Given the description of an element on the screen output the (x, y) to click on. 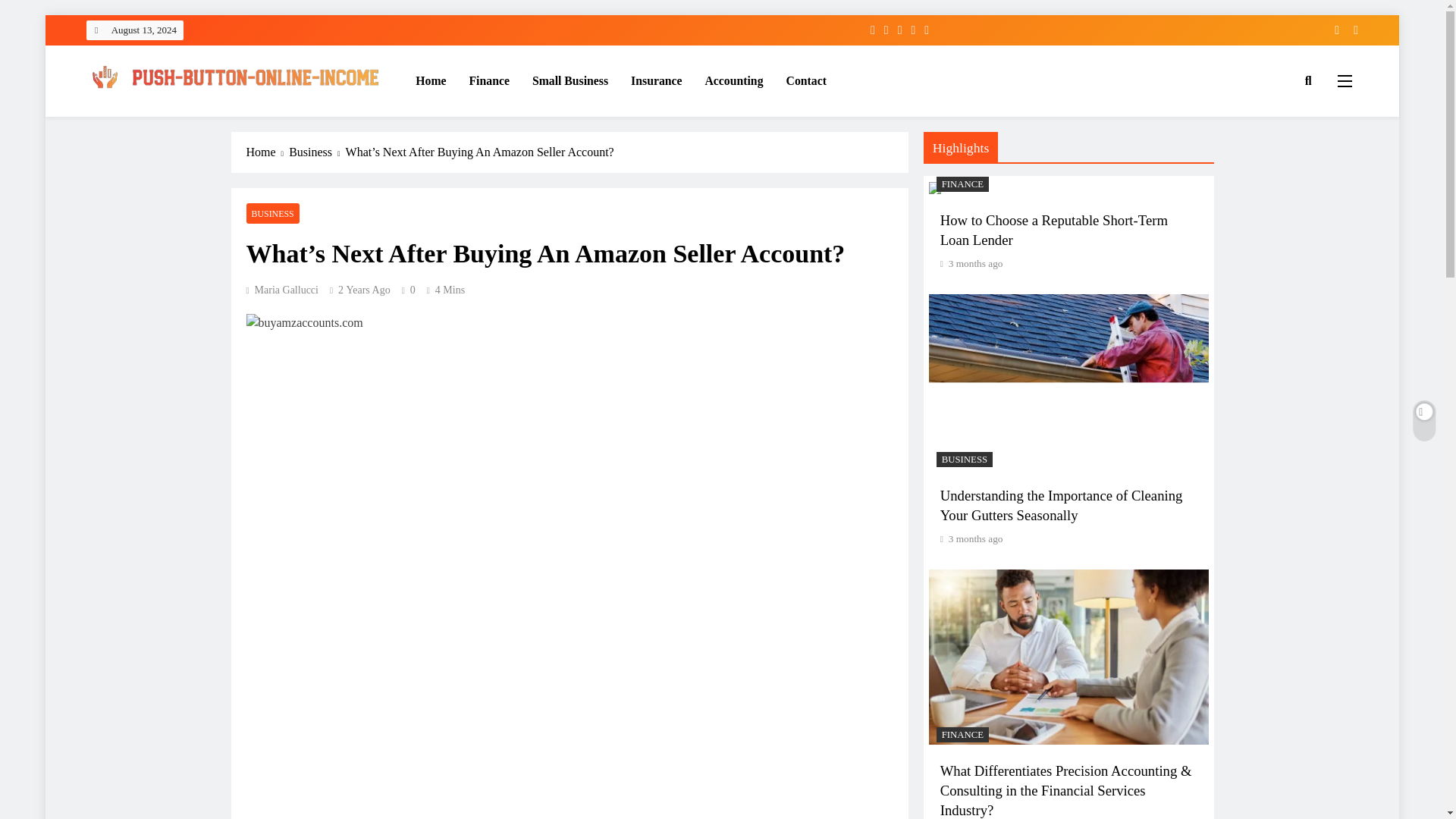
Contact (806, 80)
Insurance (656, 80)
3 months ago (976, 263)
Skilled Push Button Online Income (256, 117)
Maria Gallucci (281, 289)
BUSINESS (272, 213)
How to Choose a Reputable Short-Term Loan Lender (1053, 230)
Home (430, 80)
Accounting (733, 80)
Finance (489, 80)
